Given the description of an element on the screen output the (x, y) to click on. 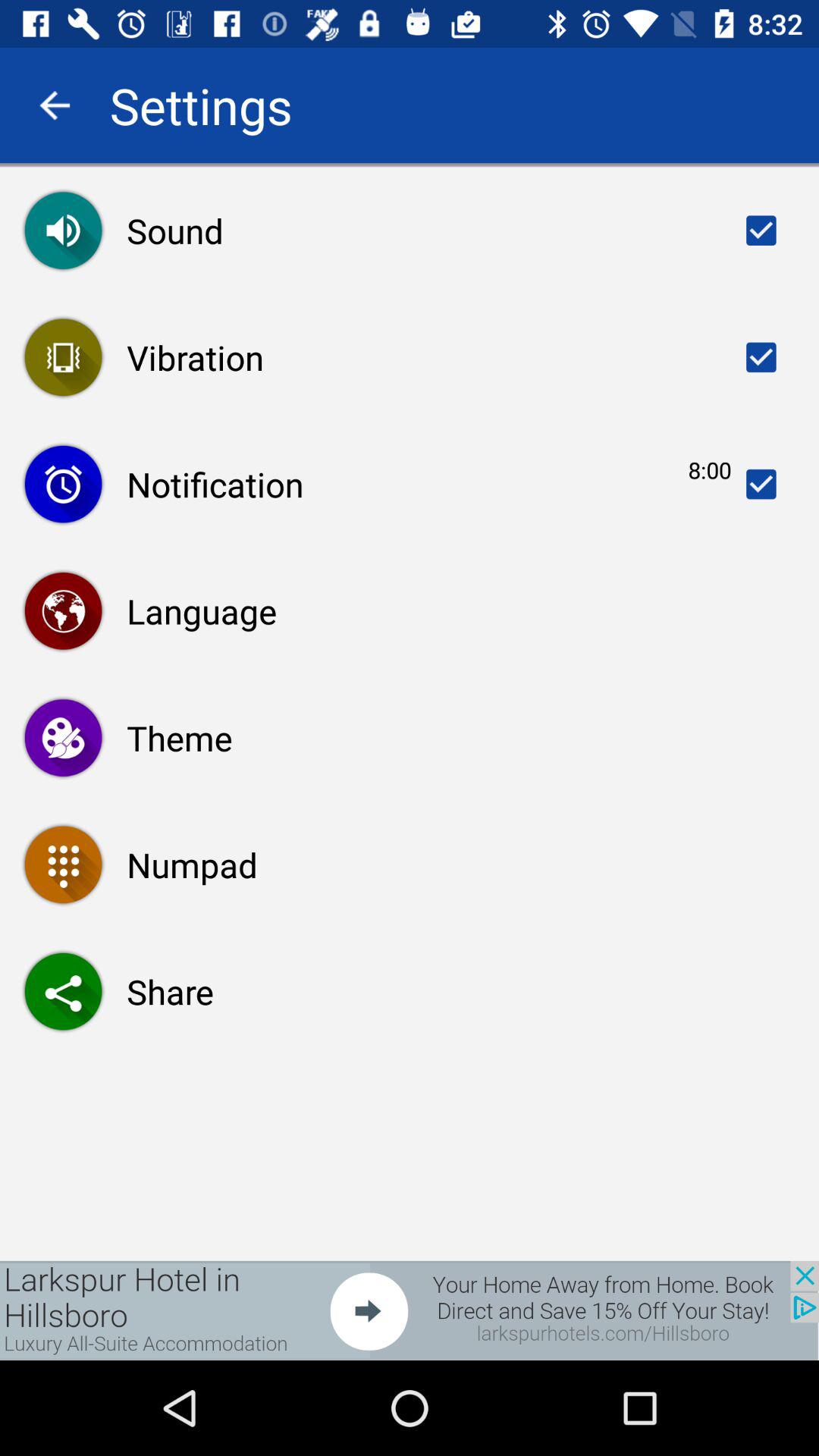
go to the advertisement website (409, 1310)
